Given the description of an element on the screen output the (x, y) to click on. 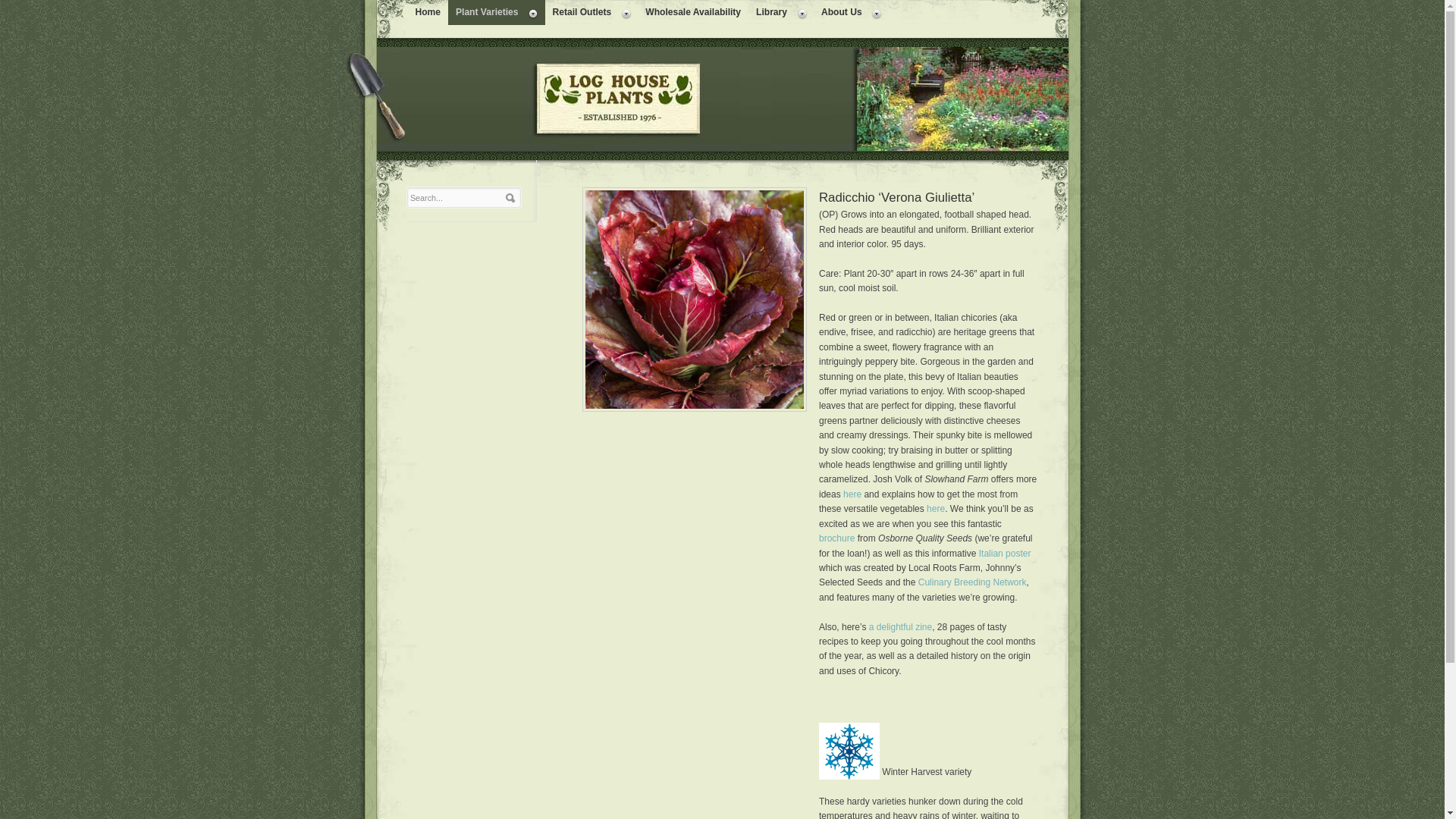
winter (848, 750)
Home (427, 12)
Search... (456, 197)
